Given the description of an element on the screen output the (x, y) to click on. 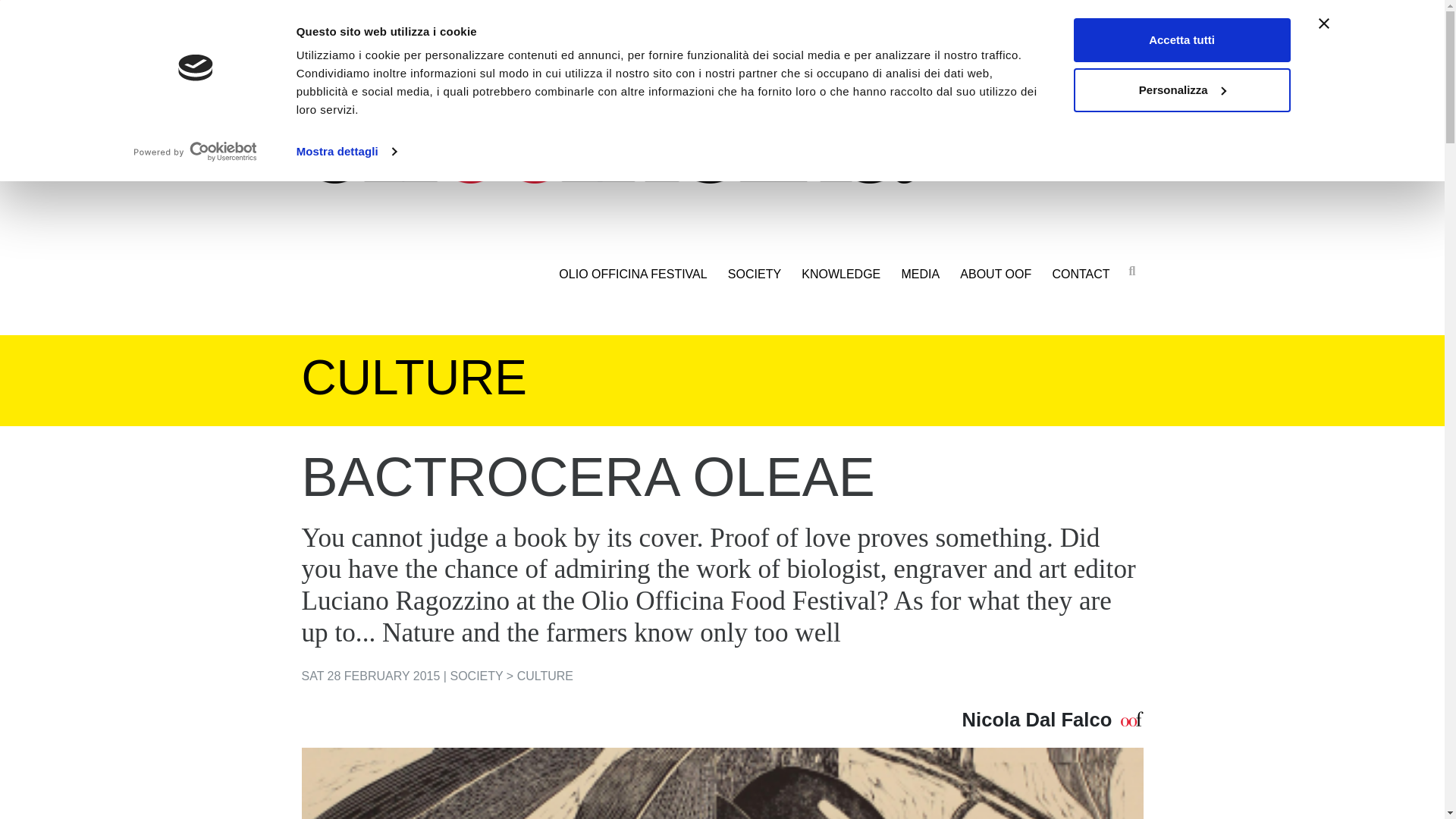
EN (382, 11)
Accetta tutti (1182, 40)
Personalizza (1182, 89)
Mostra dettagli (346, 151)
register (1071, 12)
login (1034, 12)
